Given the description of an element on the screen output the (x, y) to click on. 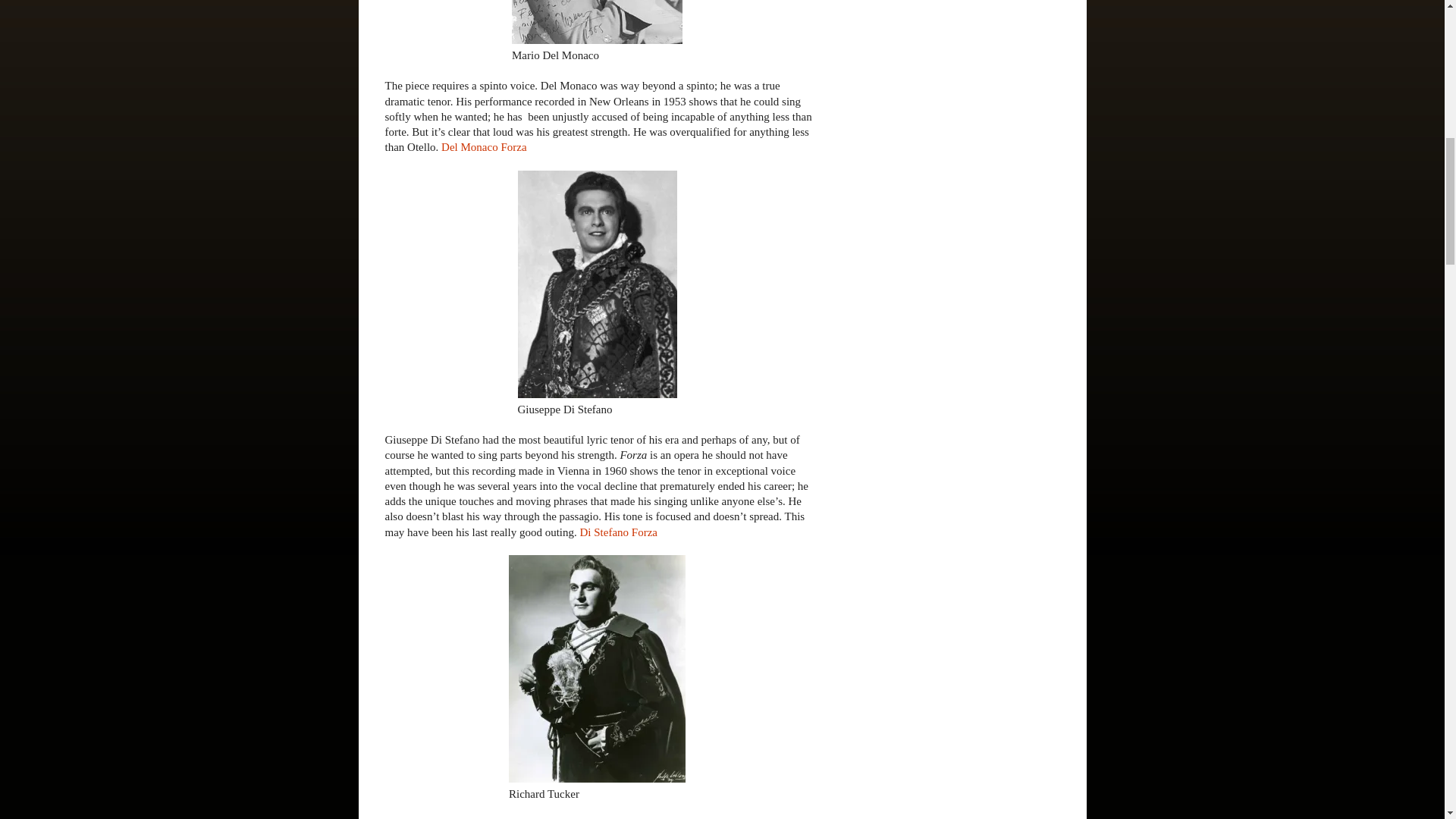
Di Stefano Forza (618, 532)
Mario del Monaco (597, 22)
Del Monaco Forza (483, 146)
